Given the description of an element on the screen output the (x, y) to click on. 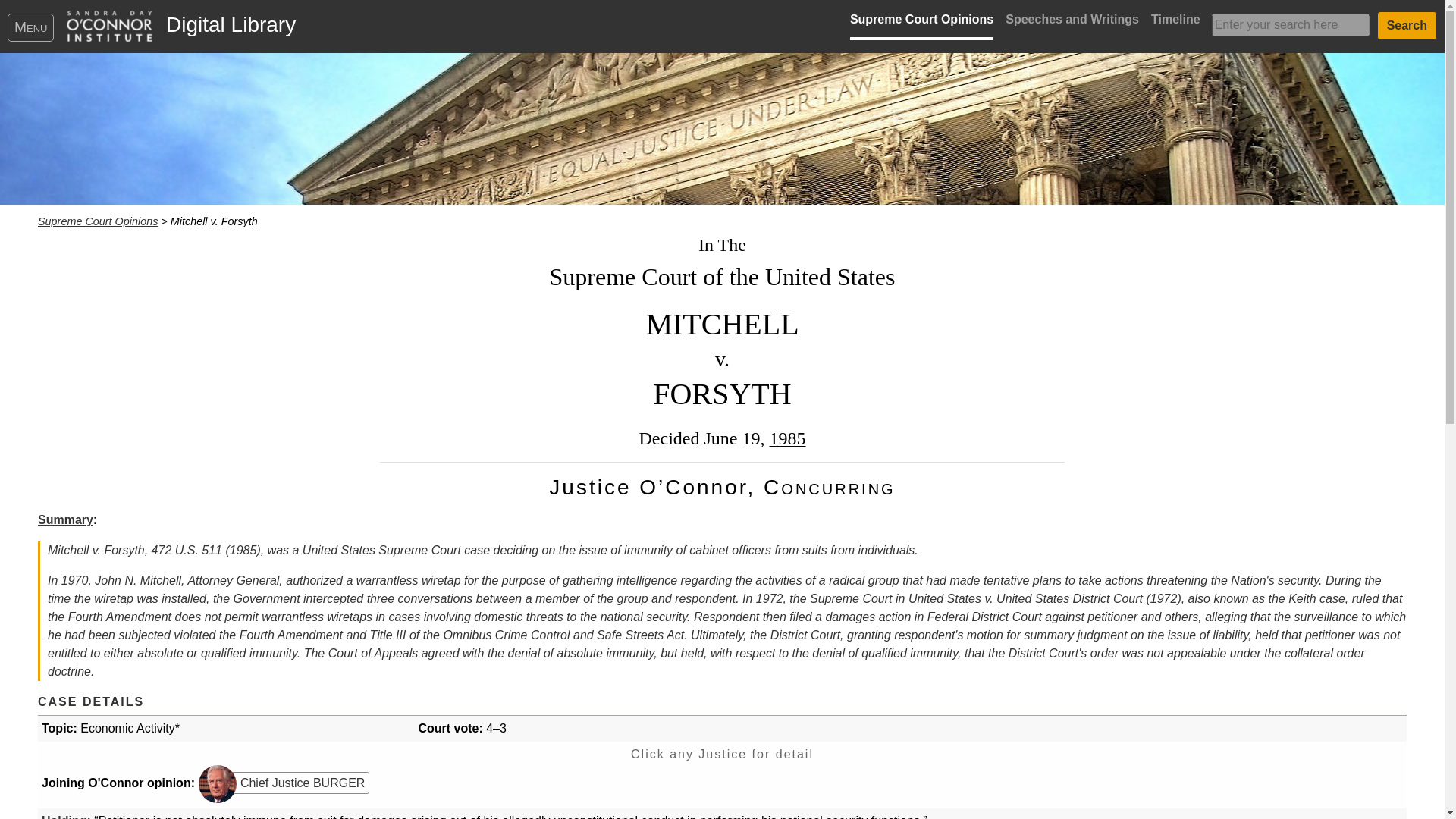
Supreme Court Opinions (97, 221)
Holding: (66, 816)
Menu (30, 27)
Speeches and Writings (1072, 23)
Timeline (1175, 23)
1985 (786, 437)
 Chief Justice BURGER (287, 782)
Supreme Court Opinions (921, 23)
Search (1407, 25)
Summary (65, 519)
  Digital Library (224, 24)
